Given the description of an element on the screen output the (x, y) to click on. 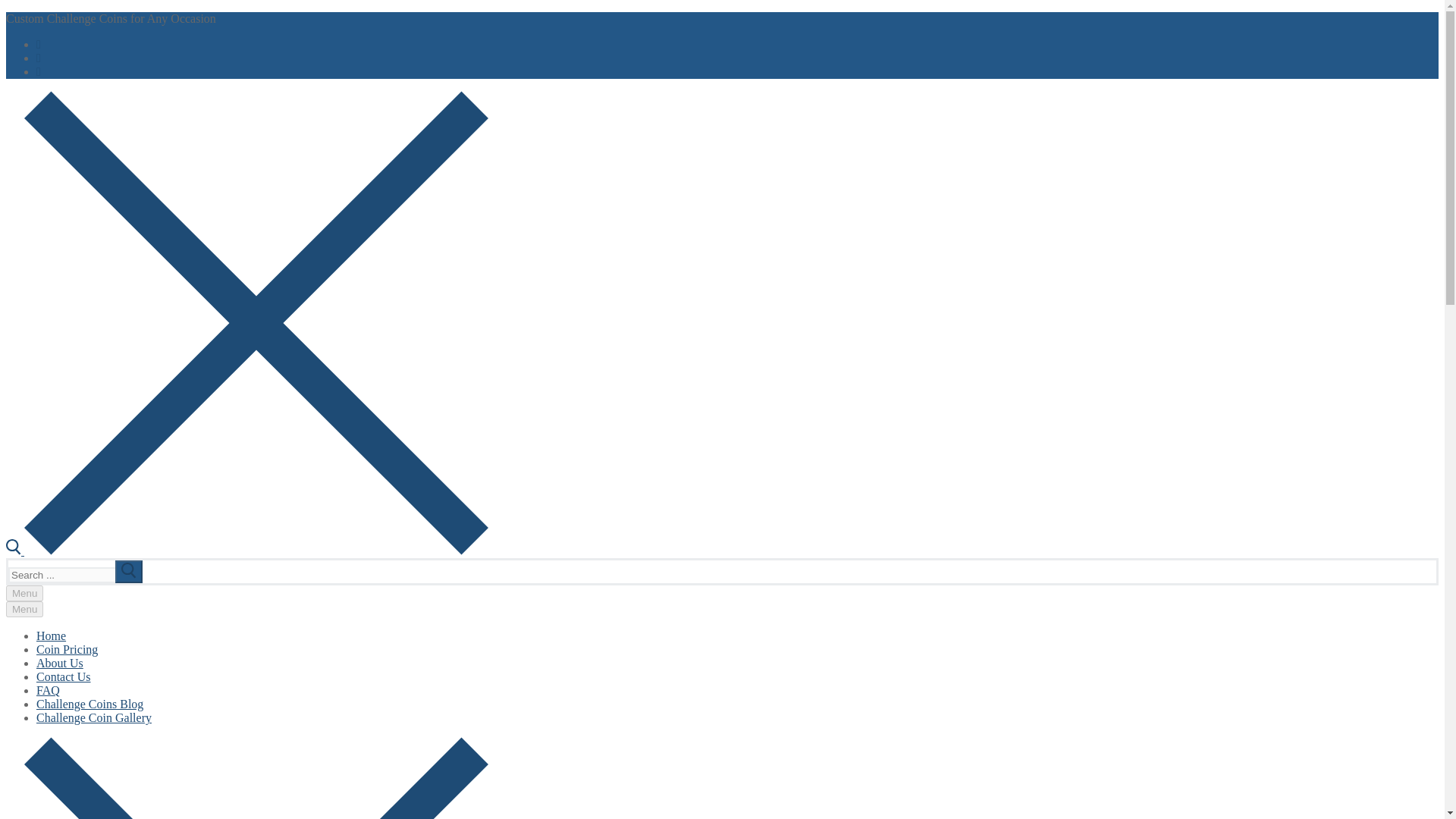
Home (50, 635)
Contact Us (63, 676)
Challenge Coin Gallery (93, 717)
FAQ (47, 689)
Search for: (75, 575)
About Us (59, 662)
Menu (24, 593)
Menu (24, 609)
Challenge Coins Blog (89, 703)
